Given the description of an element on the screen output the (x, y) to click on. 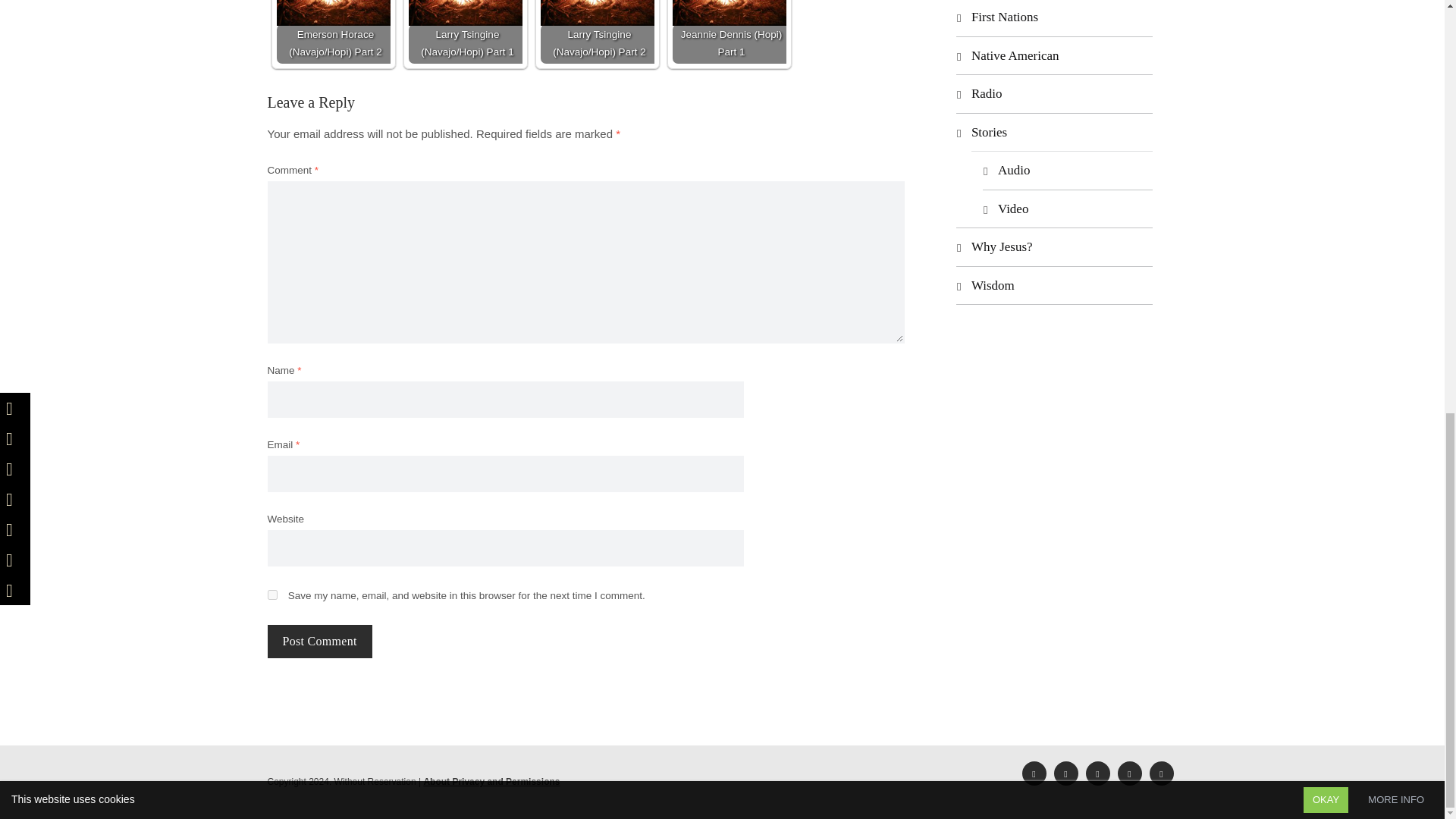
Spotify (1097, 773)
Facebook (1034, 773)
Twitter (1066, 773)
Post Comment (318, 641)
yes (271, 594)
